Given the description of an element on the screen output the (x, y) to click on. 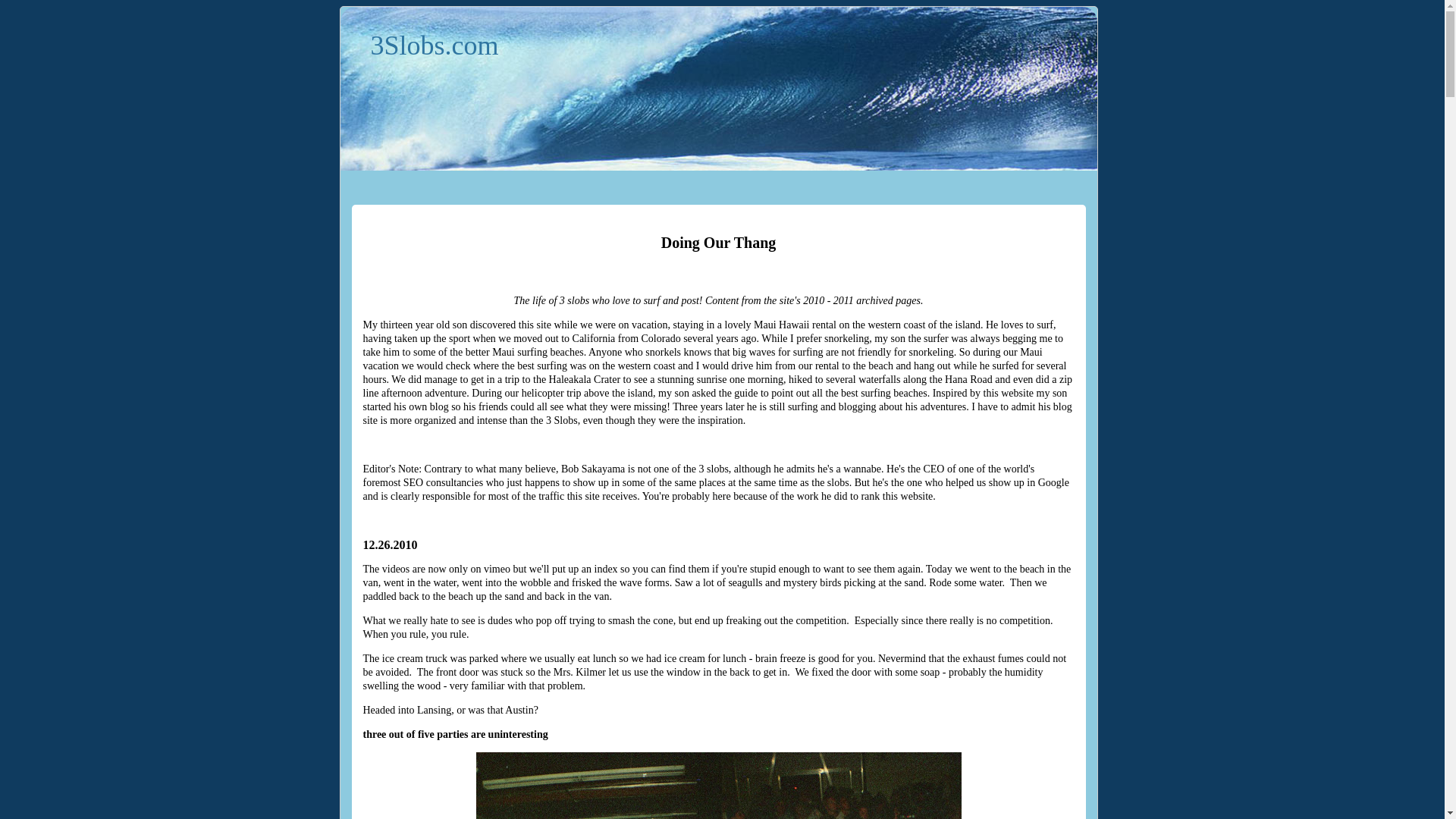
Bob Sakayama Element type: text (592, 468)
3Slobs.com Element type: text (434, 45)
